Given the description of an element on the screen output the (x, y) to click on. 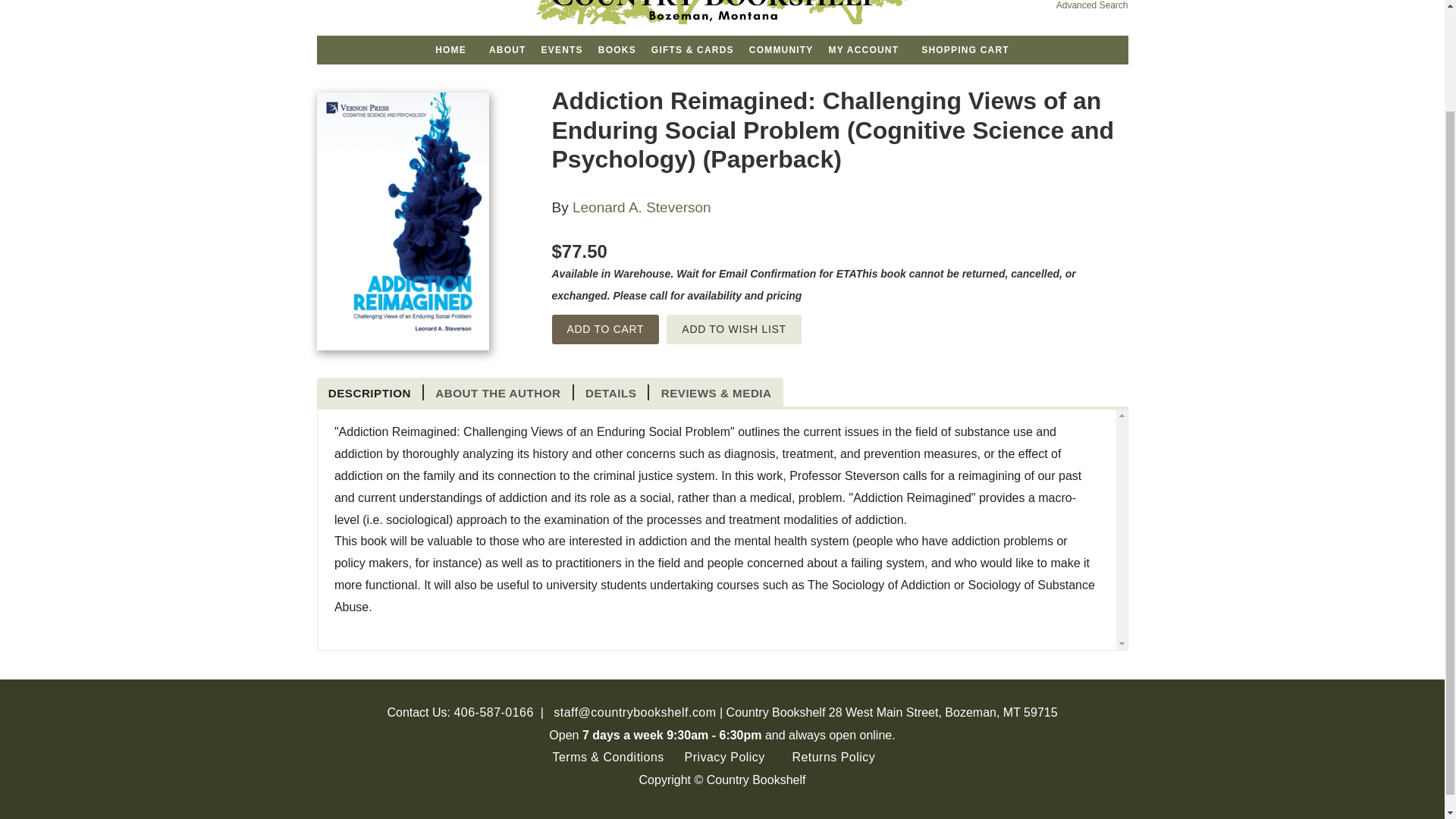
EVENTS (562, 50)
ABOUT (507, 50)
BOOKS (617, 50)
My Account (332, 0)
Advanced Search (1092, 5)
Cart (371, 0)
HOME (450, 50)
COMMUNITY (781, 50)
Add to Cart (605, 328)
